Given the description of an element on the screen output the (x, y) to click on. 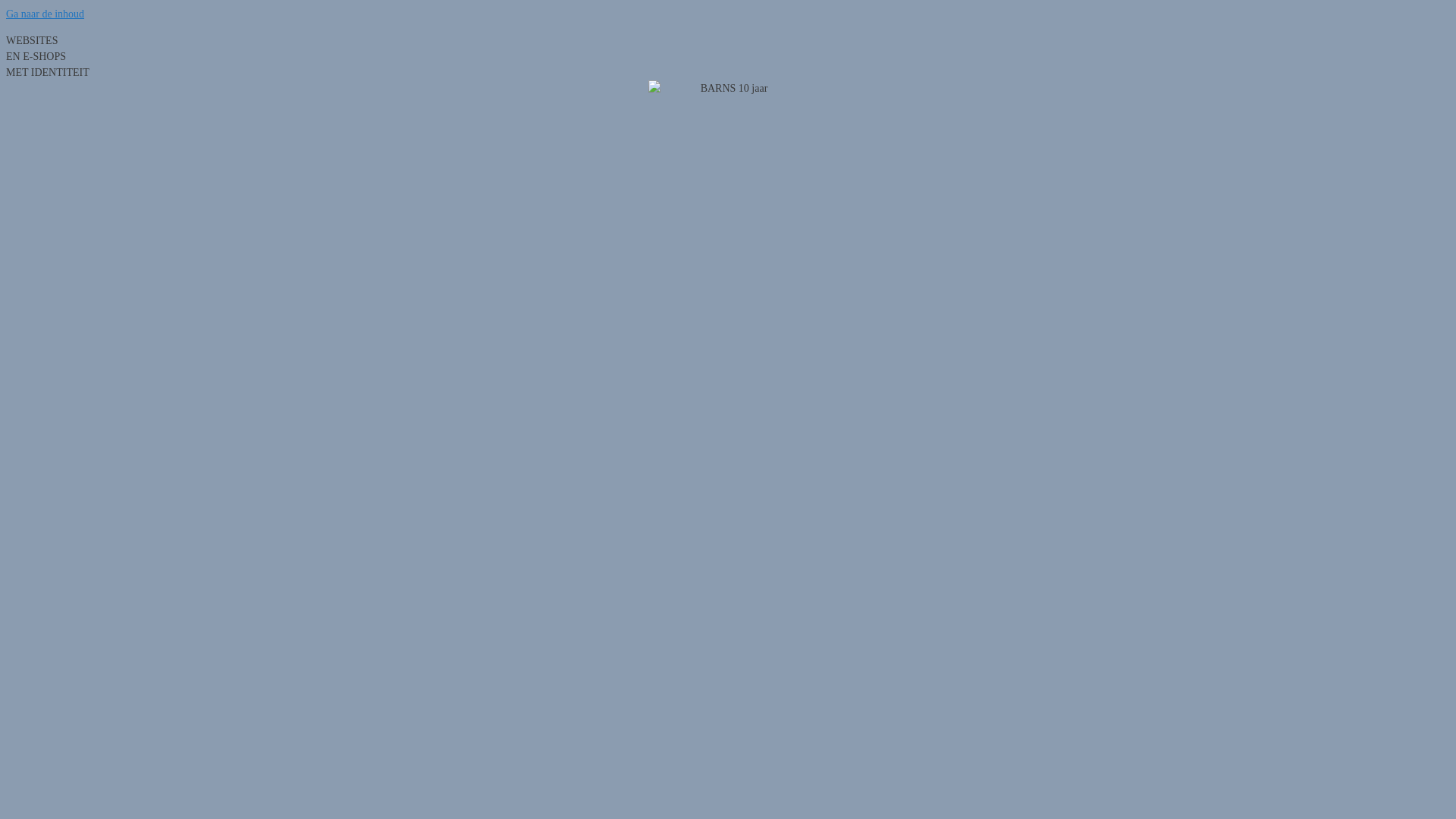
Ga naar de inhoud Element type: text (45, 13)
